Given the description of an element on the screen output the (x, y) to click on. 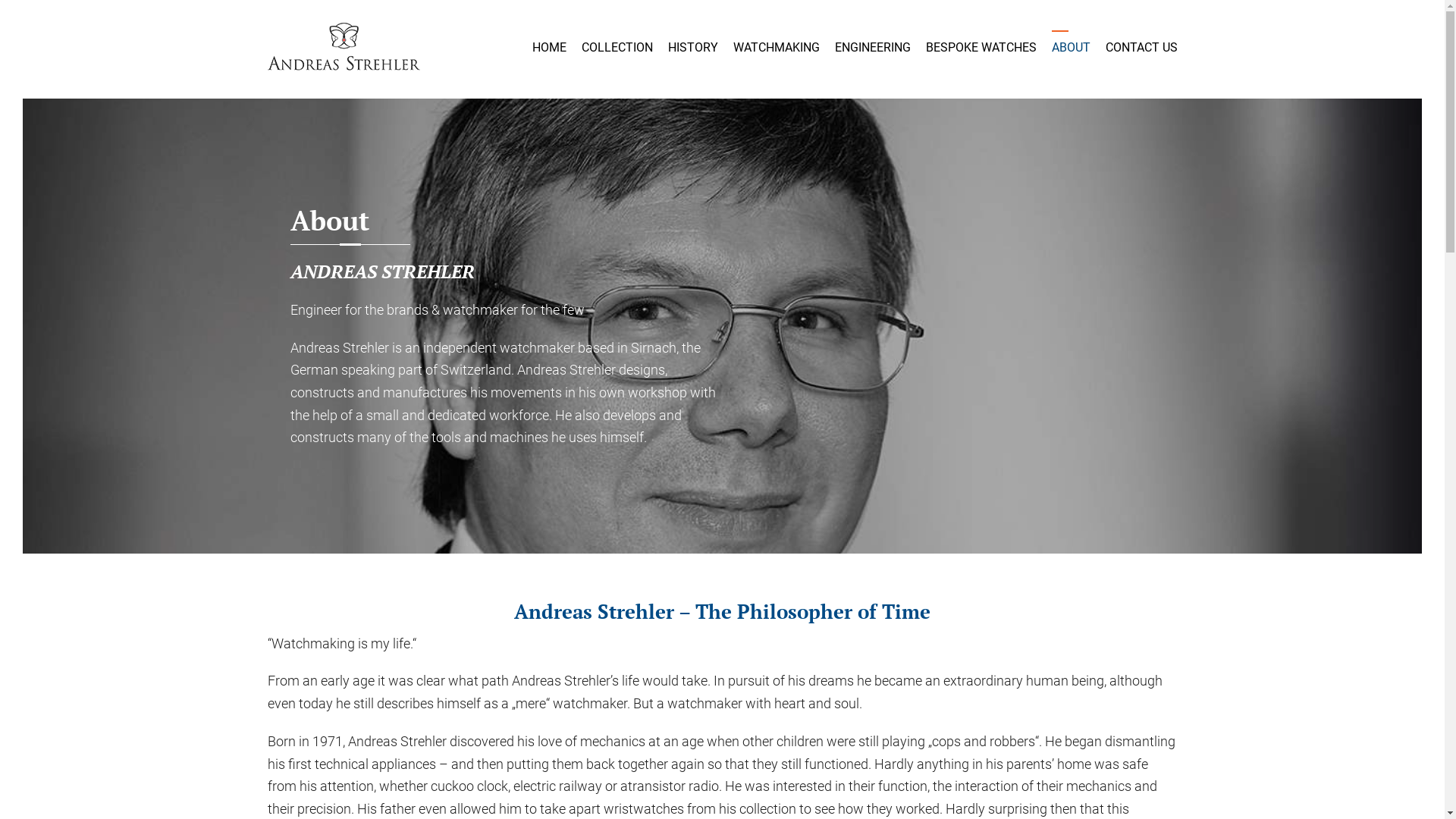
GARRICK Element type: text (342, 48)
HOME Element type: text (549, 47)
WATCHMAKING Element type: text (775, 47)
BESPOKE WATCHES Element type: text (980, 47)
ENGINEERING Element type: text (872, 47)
ABOUT Element type: text (1070, 47)
CONTACT US Element type: text (1141, 47)
COLLECTION Element type: text (616, 47)
HISTORY Element type: text (692, 47)
